Given the description of an element on the screen output the (x, y) to click on. 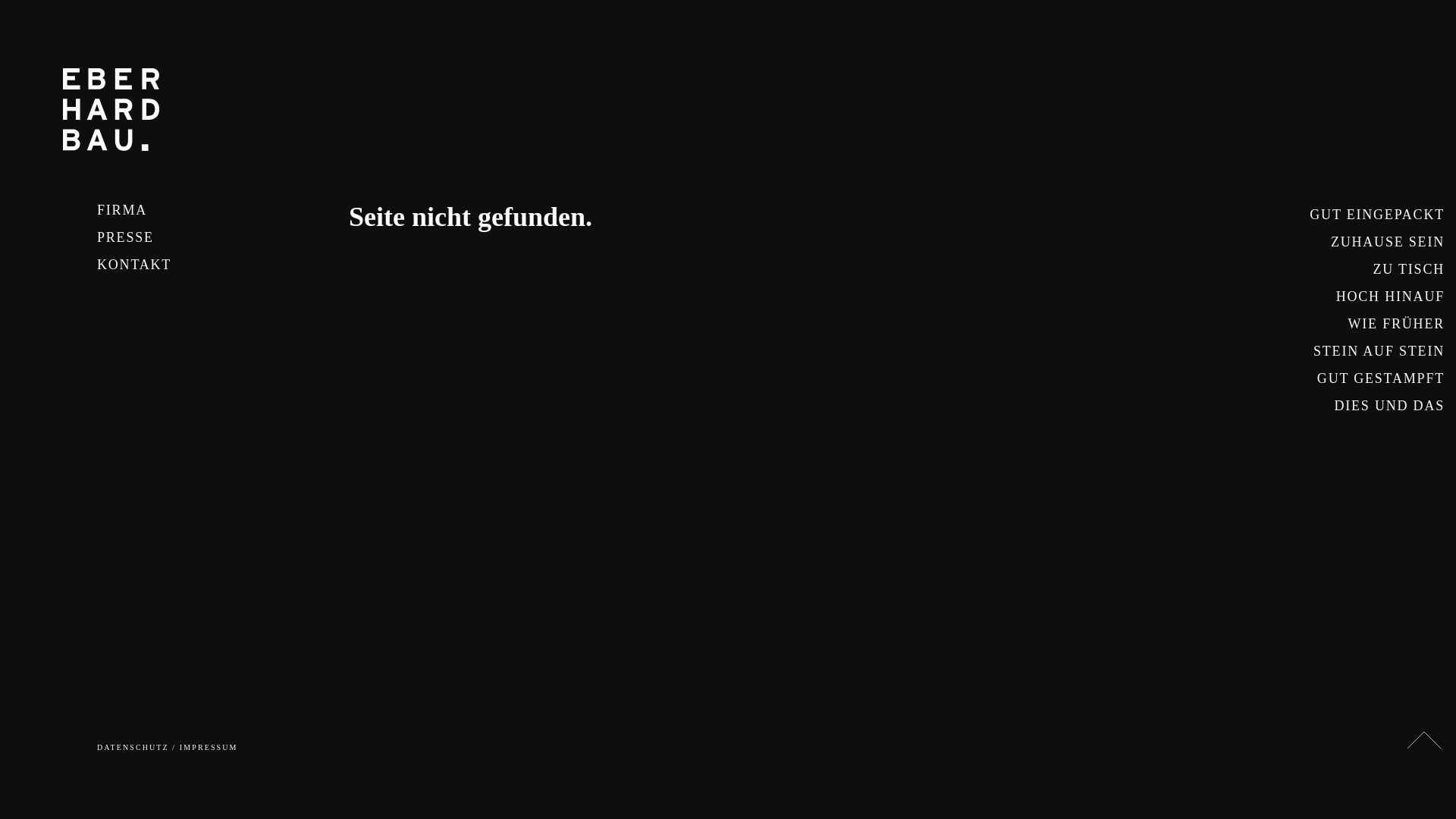
GUT GESTAMPFT Element type: text (1376, 378)
FIRMA Element type: text (151, 209)
ZU TISCH Element type: text (1376, 268)
HOCH HINAUF Element type: text (1376, 296)
DIES UND DAS Element type: text (1376, 405)
PRESSE Element type: text (151, 237)
STEIN AUF STEIN Element type: text (1376, 350)
DATENSCHUTZ / IMPRESSUM Element type: text (167, 747)
GUT EINGEPACKT Element type: text (1376, 214)
ZUHAUSE SEIN Element type: text (1376, 241)
KONTAKT Element type: text (151, 264)
